Given the description of an element on the screen output the (x, y) to click on. 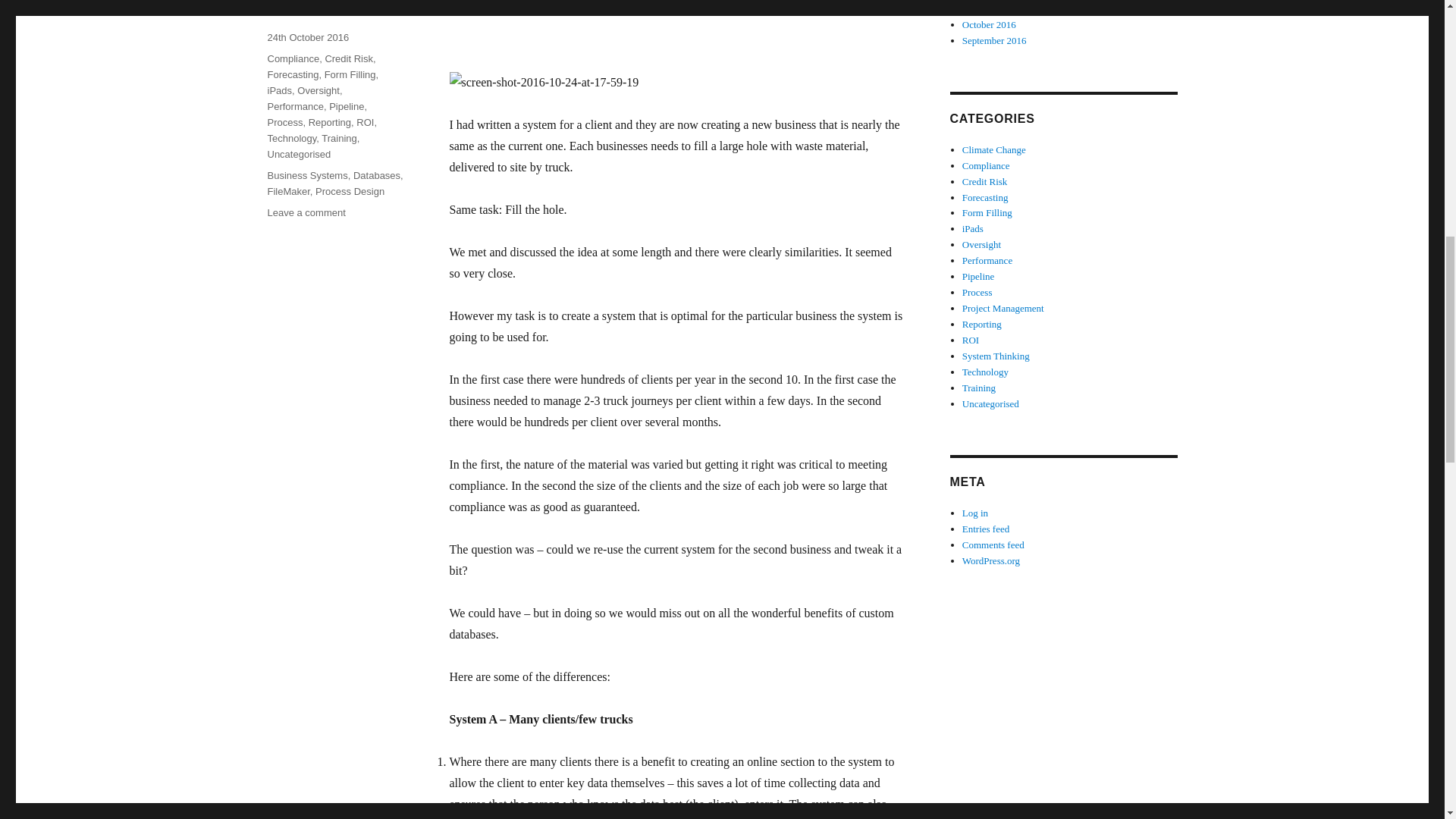
iPads (279, 90)
Credit Risk (348, 58)
Pipeline (346, 106)
Form Filling (349, 74)
Performance (294, 106)
Uncategorised (298, 153)
FileMaker (287, 191)
ROI (365, 122)
Forecasting (292, 74)
Reporting (329, 122)
24th October 2016 (307, 37)
Technology (290, 138)
Process (284, 122)
Process Design (349, 191)
Business Systems (306, 174)
